Given the description of an element on the screen output the (x, y) to click on. 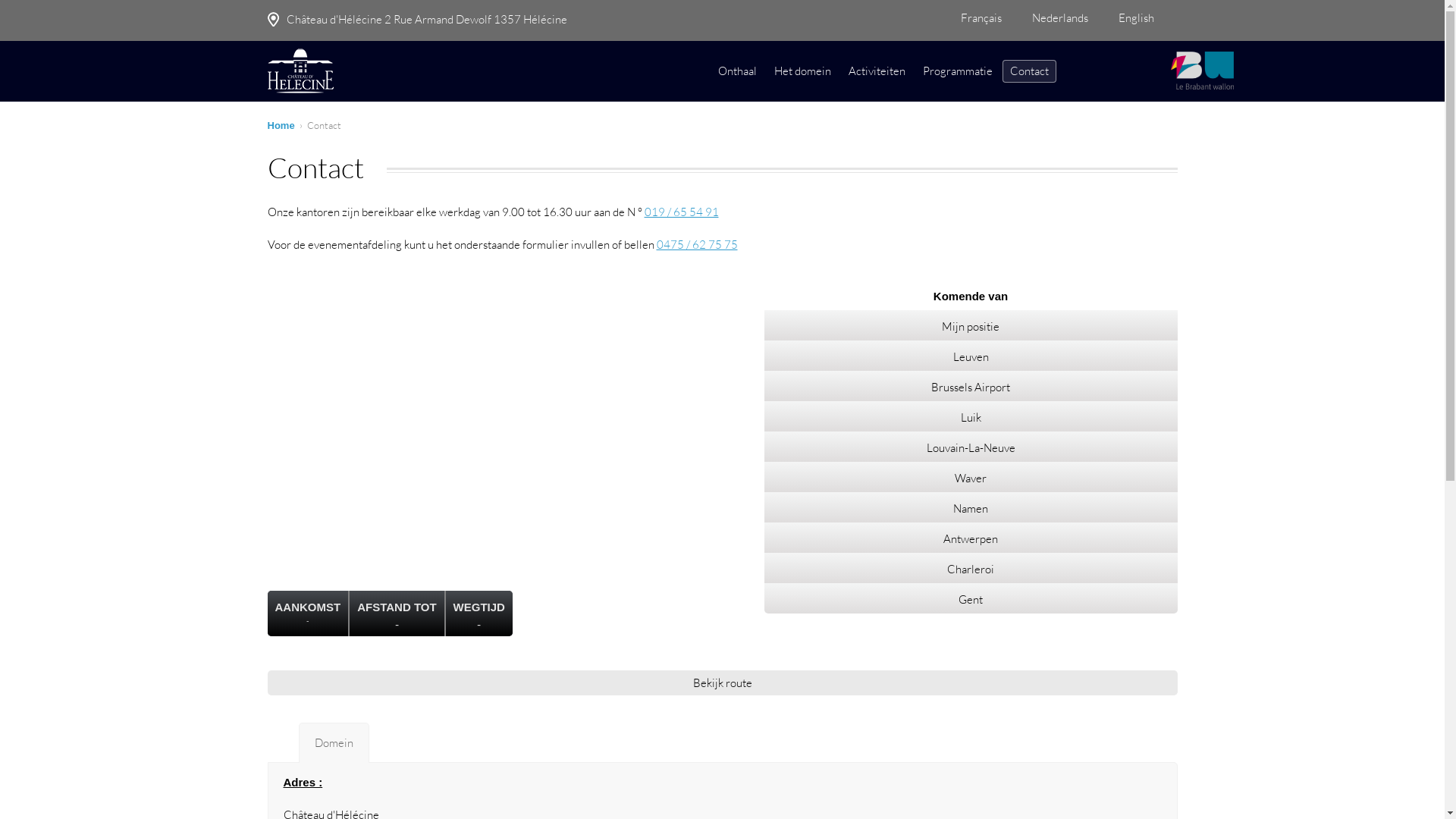
Home Element type: text (280, 125)
Contact Element type: text (1029, 70)
English Element type: text (1143, 16)
Het domein Element type: text (801, 70)
Onthaal Element type: text (736, 70)
0475 / 62 75 75 Element type: text (696, 244)
019 / 65 54 91 Element type: text (681, 211)
Domein Element type: text (333, 742)
Activiteiten Element type: text (876, 70)
Programmatie Element type: text (956, 70)
Nederlands Element type: text (1066, 16)
